Given the description of an element on the screen output the (x, y) to click on. 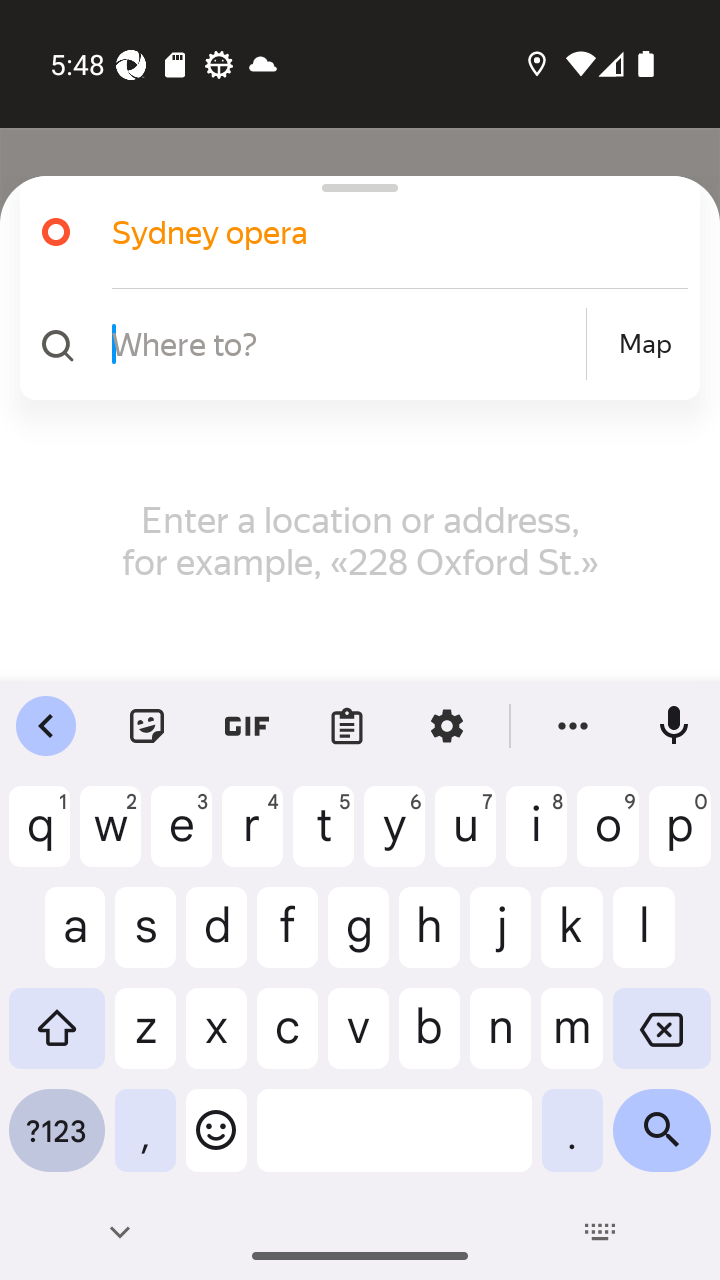
Sydney opera (352, 232)
Sydney opera (373, 232)
Where to? Map Map (352, 343)
Map (645, 343)
Where to? (346, 343)
